Given the description of an element on the screen output the (x, y) to click on. 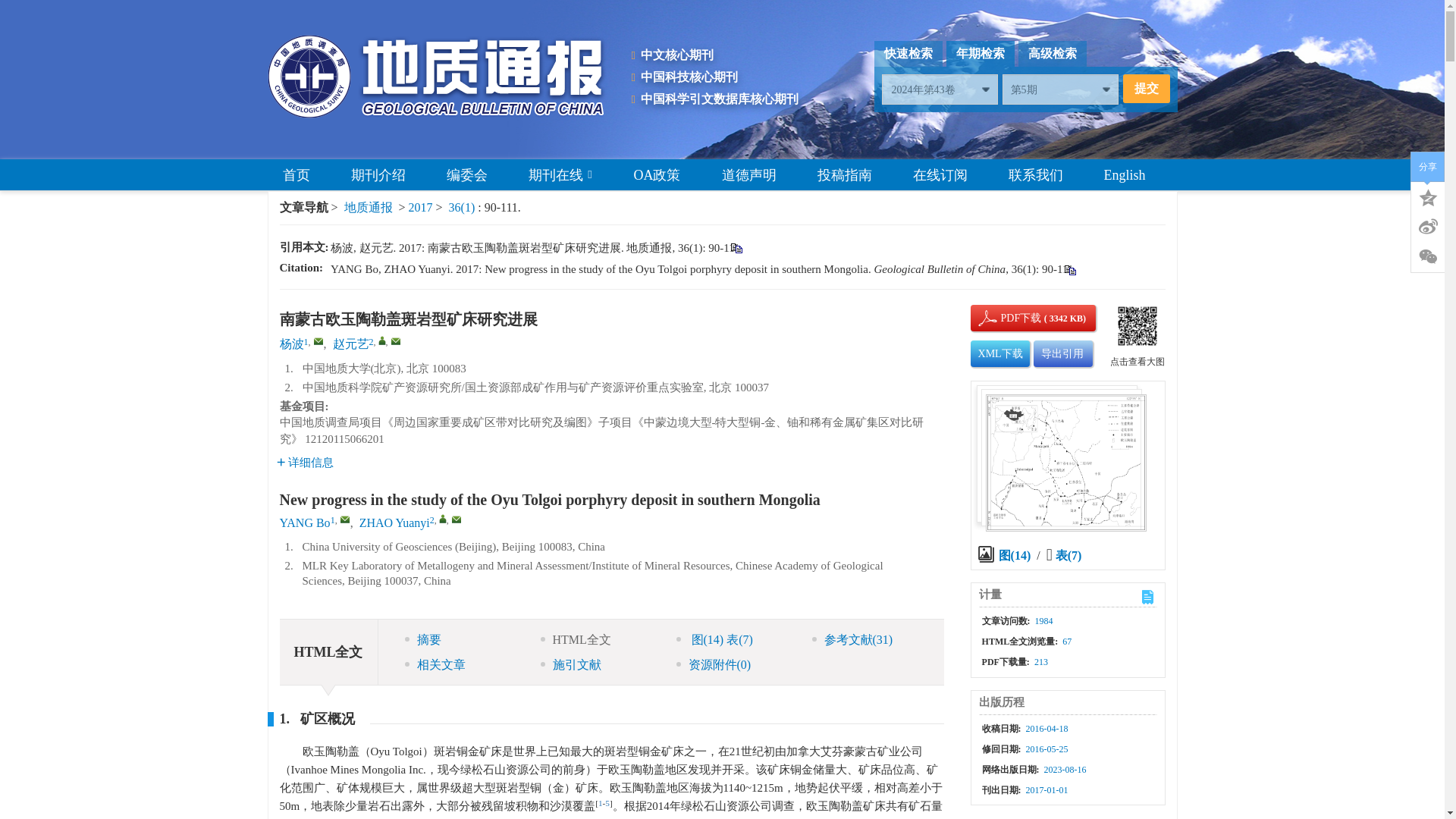
English (1124, 174)
copy to clipboard (1068, 268)
